Given the description of an element on the screen output the (x, y) to click on. 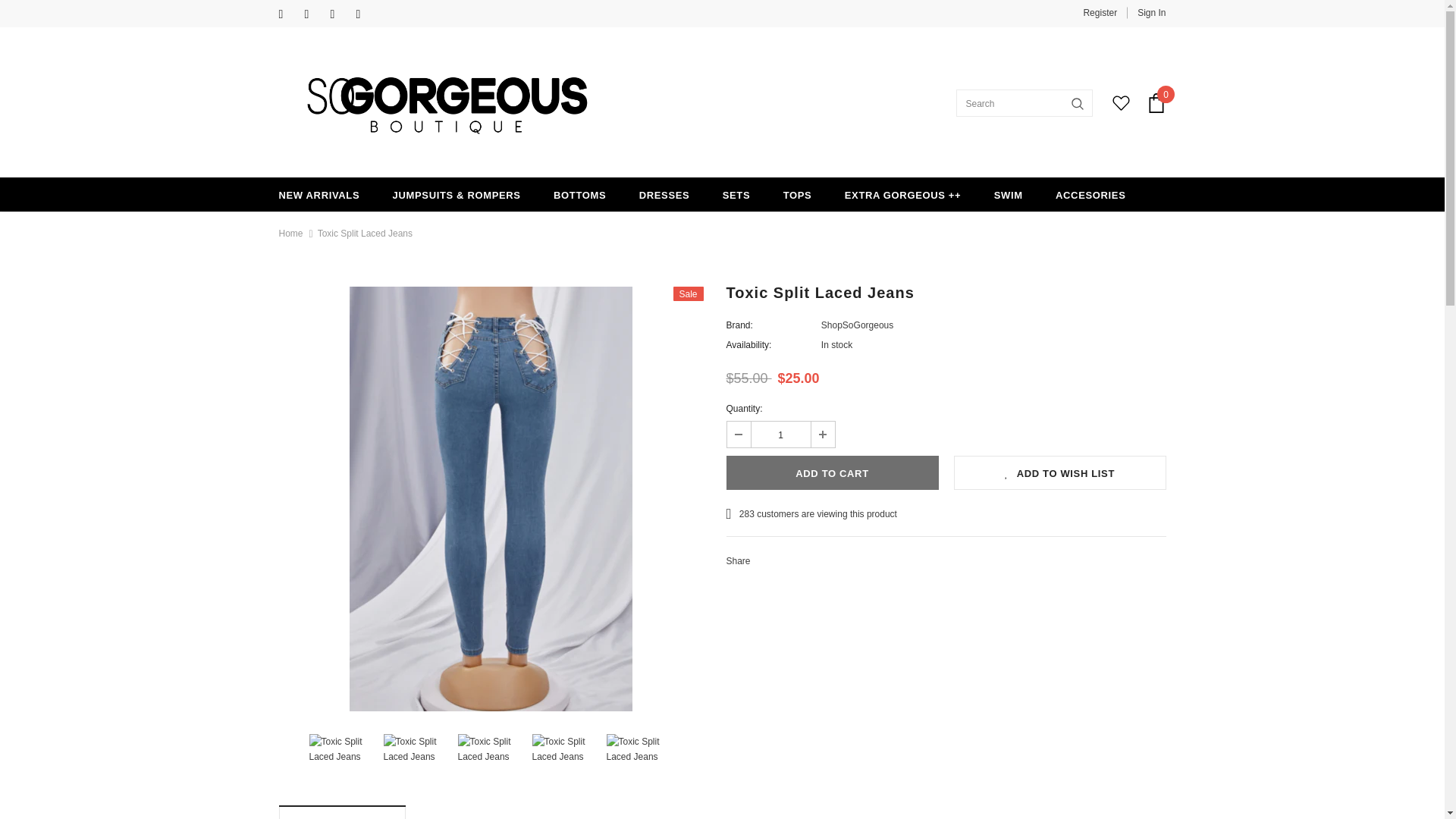
DRESSES (664, 194)
YouTube (365, 14)
ACCESORIES (1090, 194)
Home (290, 233)
1 (780, 434)
ShopSoGorgeous (857, 325)
Instagram (313, 14)
Logo (446, 102)
Cart Icon (1156, 103)
0 (1156, 103)
